Given the description of an element on the screen output the (x, y) to click on. 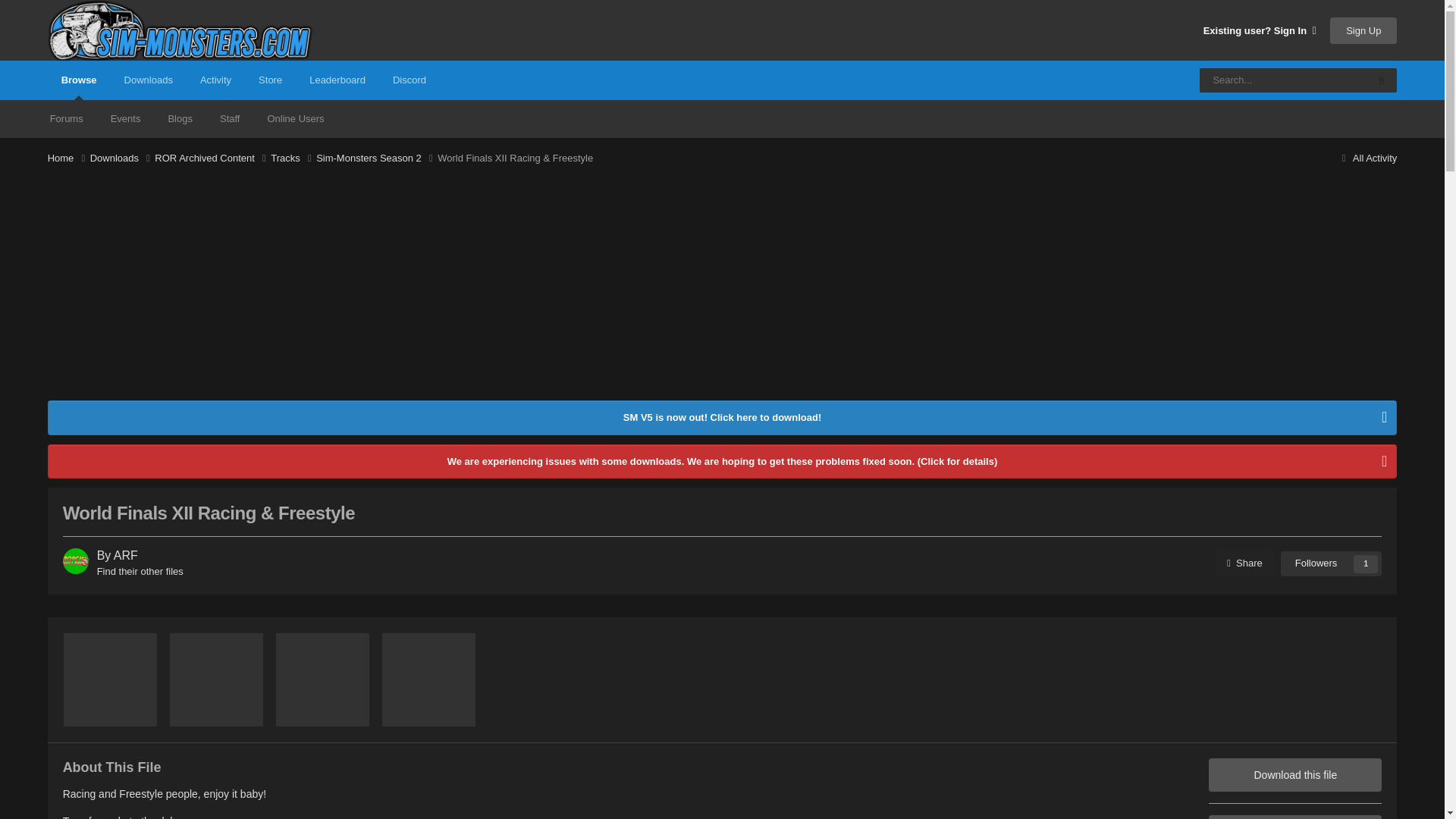
Leaderboard (336, 79)
Get support for this download (1294, 816)
Existing user? Sign In   (1260, 30)
Sign Up (1363, 29)
Advertisement (323, 294)
Home (69, 158)
Browse (79, 79)
Go to ARF's profile (125, 554)
Forums (66, 118)
Downloads (148, 79)
